Given the description of an element on the screen output the (x, y) to click on. 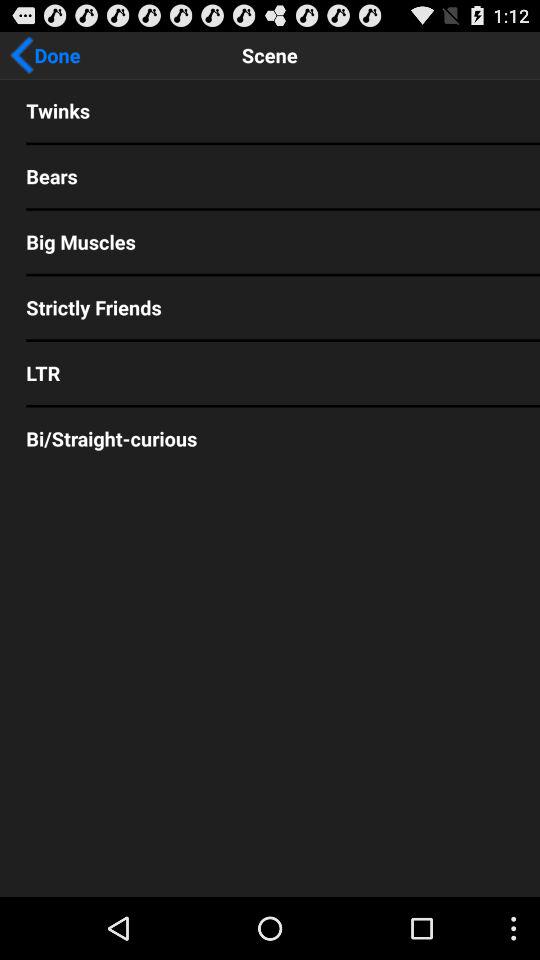
choose the bi/straight-curious (270, 438)
